Given the description of an element on the screen output the (x, y) to click on. 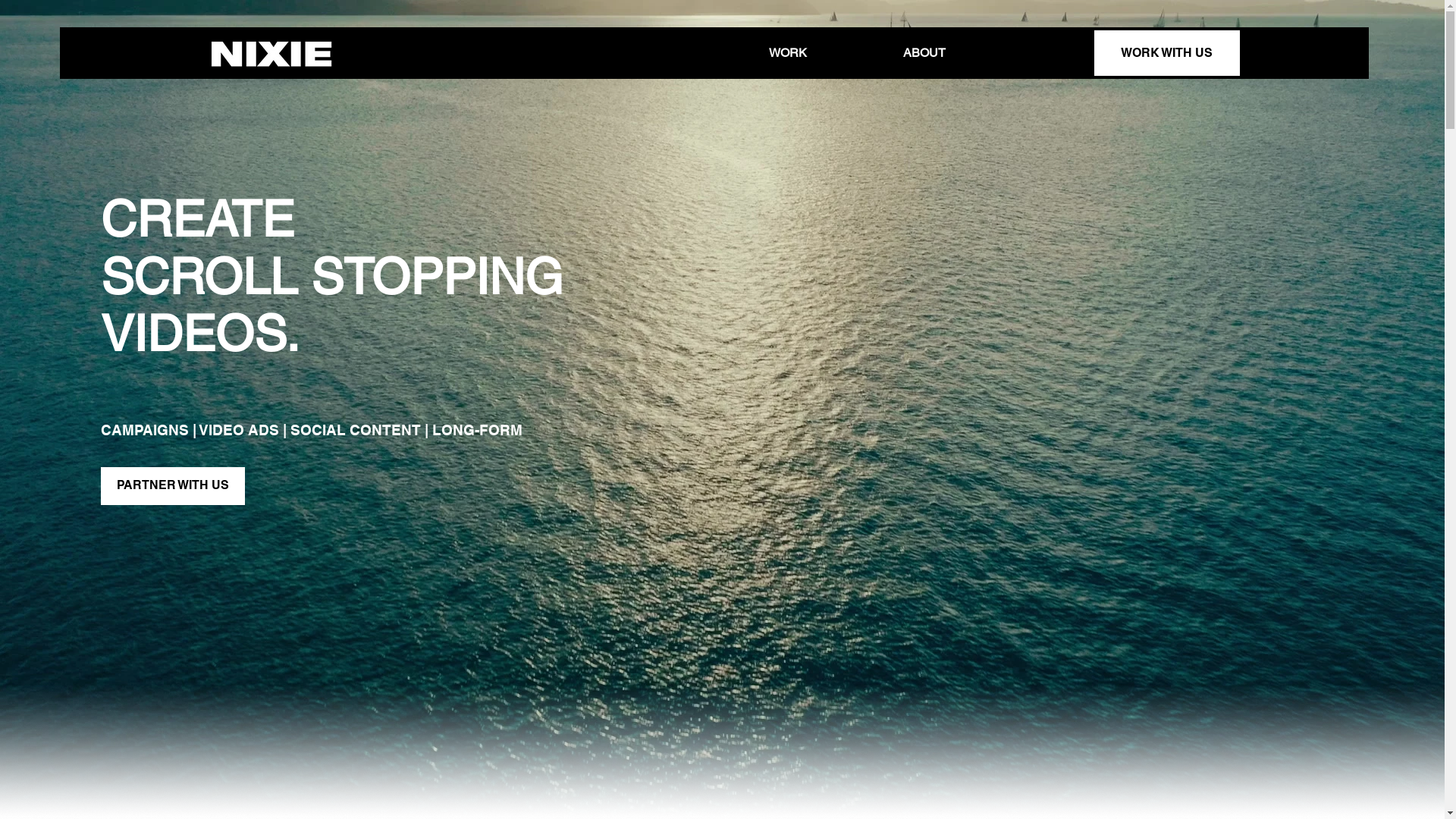
WORK WITH US Element type: text (1166, 52)
PARTNER WITH US Element type: text (172, 486)
ABOUT Element type: text (923, 52)
WORK Element type: text (786, 52)
